Given the description of an element on the screen output the (x, y) to click on. 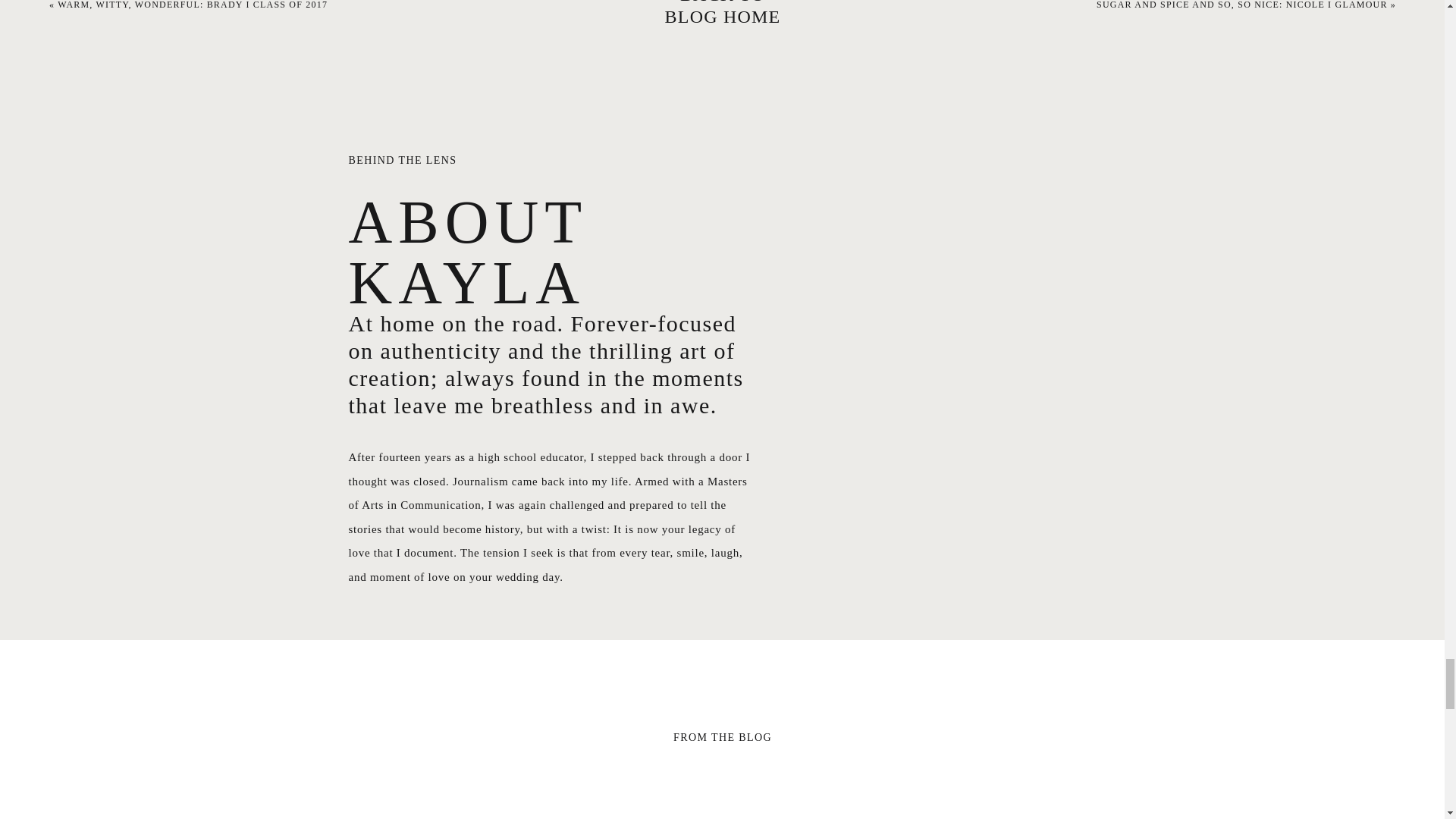
SUGAR AND SPICE AND SO, SO NICE: NICOLE I GLAMOUR (1241, 4)
BACK TO BLOG HOME (722, 13)
WARM, WITTY, WONDERFUL: BRADY I CLASS OF 2017 (192, 4)
